Given the description of an element on the screen output the (x, y) to click on. 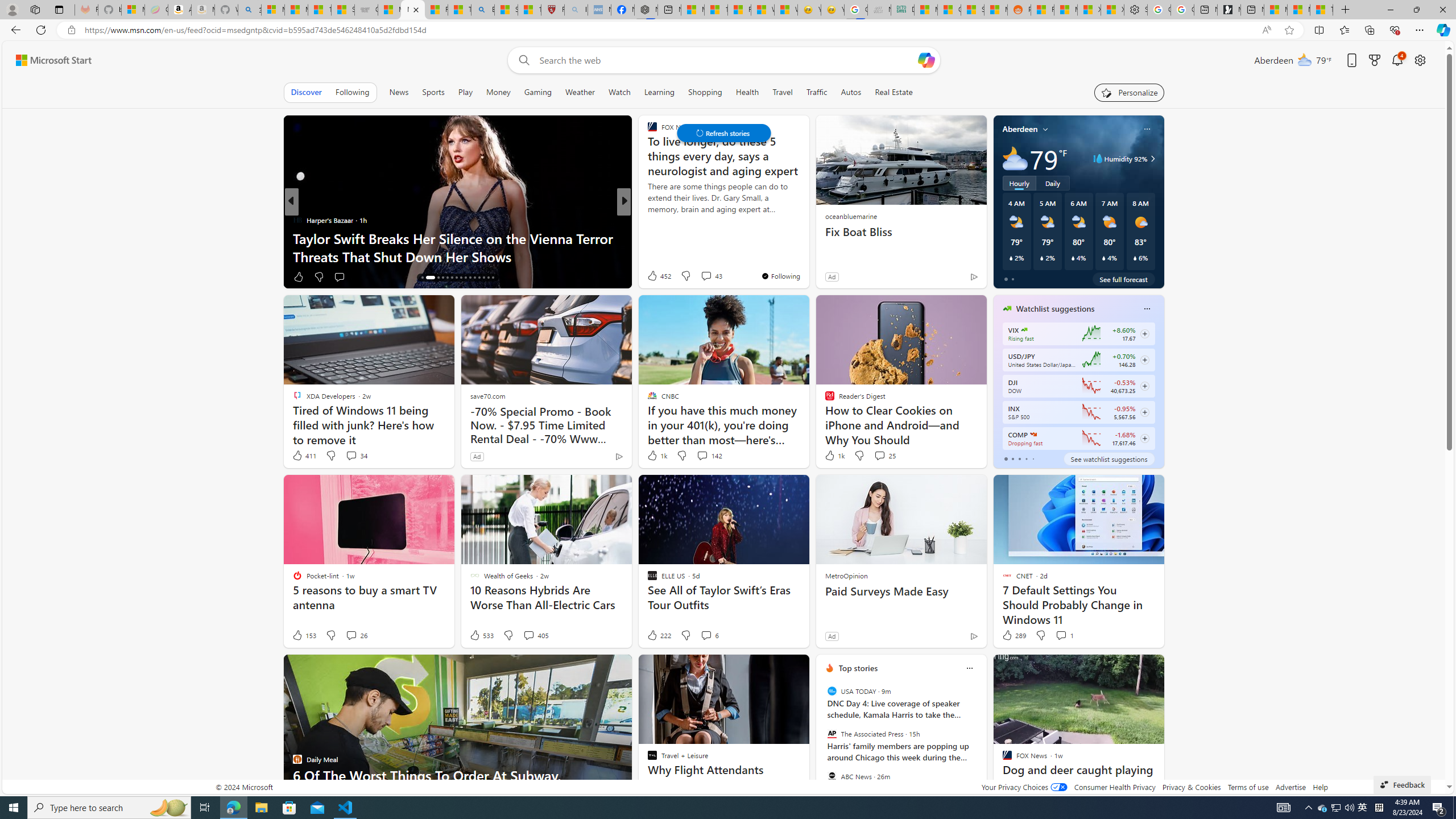
Microsoft sends Windows Control Panel to tech graveyard (807, 247)
Traffic (816, 92)
next (980, 741)
USA TODAY (832, 691)
Autos (850, 92)
Humidity 92% (1150, 158)
Robert H. Shmerling, MD - Harvard Health (552, 9)
533 Like (480, 634)
